Given the description of an element on the screen output the (x, y) to click on. 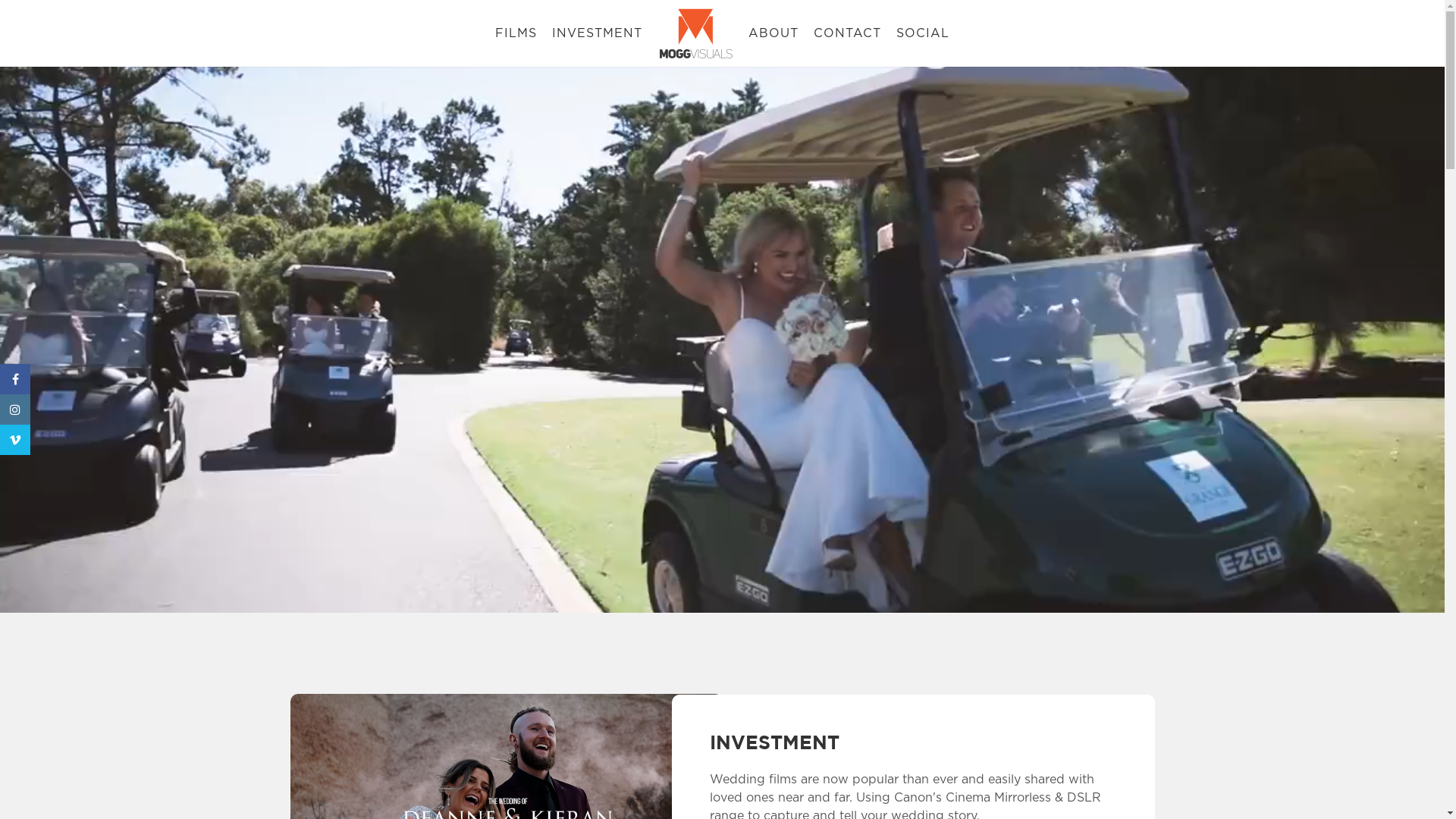
FILMS Element type: text (515, 33)
INVESTMENT Element type: text (597, 33)
CONTACT Element type: text (847, 33)
ABOUT Element type: text (773, 33)
SOCIAL Element type: text (922, 33)
